Given the description of an element on the screen output the (x, y) to click on. 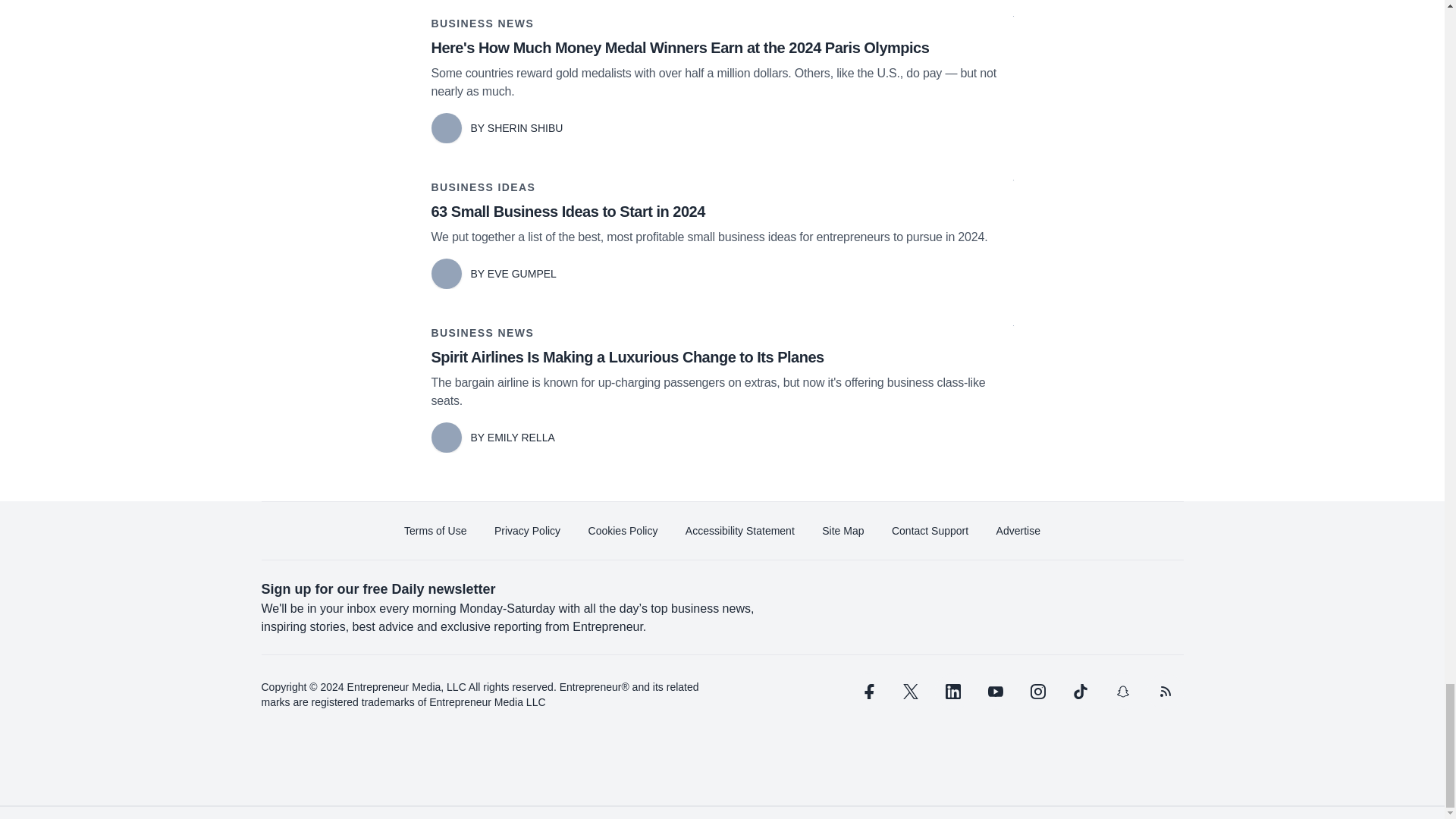
twitter (909, 691)
instagram (1037, 691)
tiktok (1079, 691)
linkedin (952, 691)
snapchat (1121, 691)
rss (1164, 691)
youtube (994, 691)
facebook (866, 691)
